Given the description of an element on the screen output the (x, y) to click on. 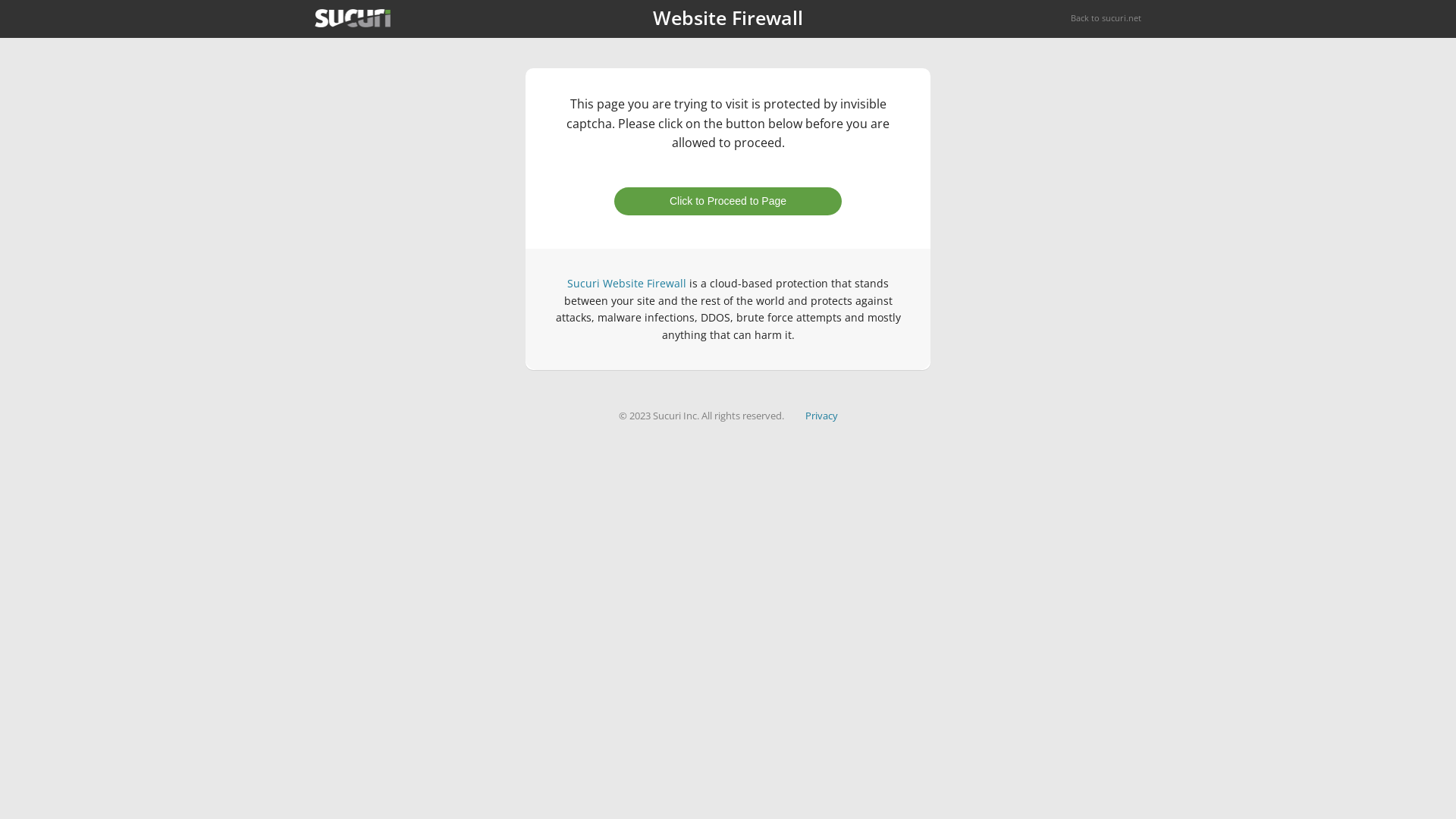
Click to Proceed to Page Element type: text (727, 201)
Sucuri Website Firewall Element type: text (626, 283)
Back to sucuri.net Element type: text (1105, 18)
Privacy Element type: text (821, 415)
